Given the description of an element on the screen output the (x, y) to click on. 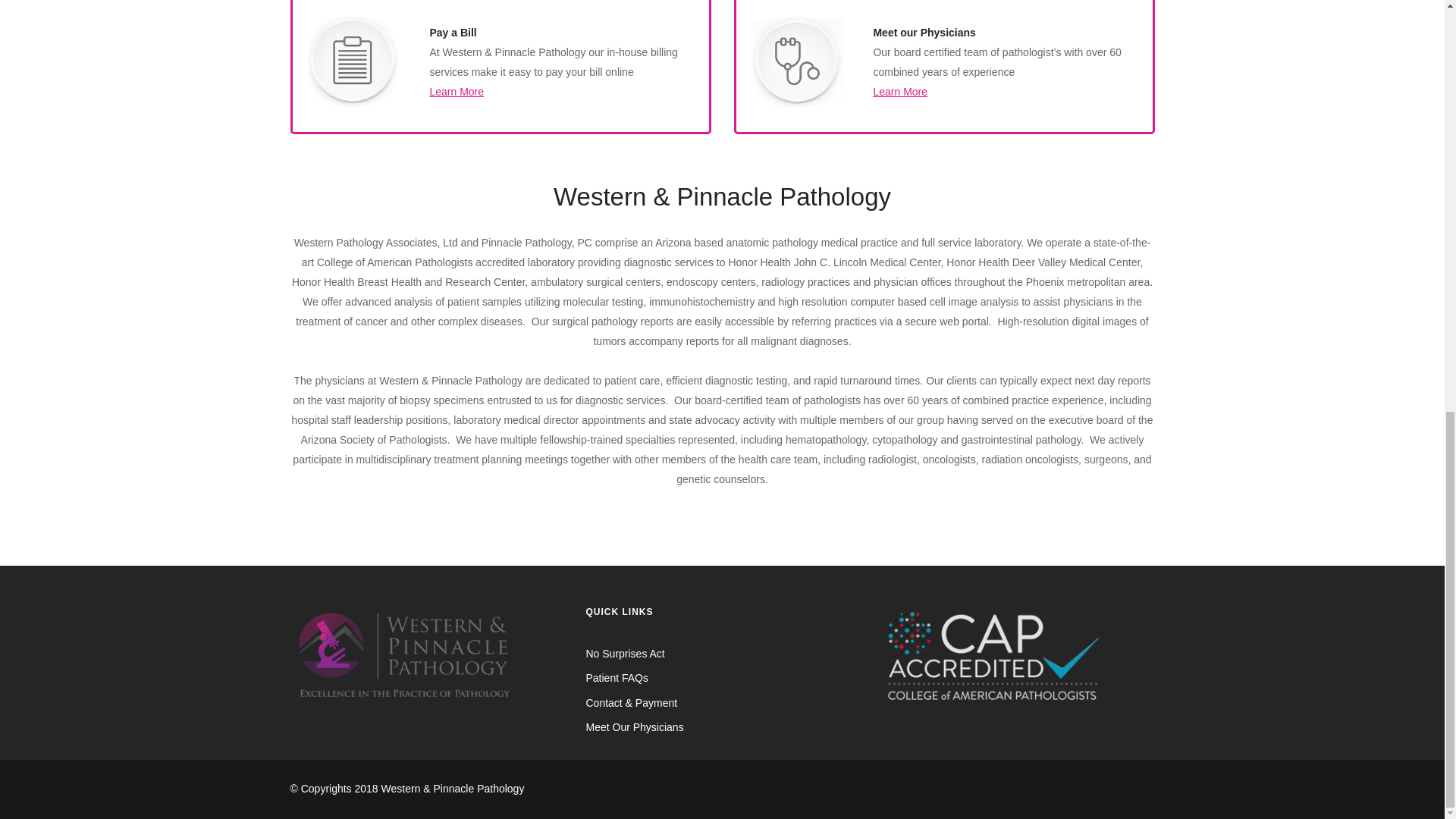
Learn More (899, 91)
Patient FAQs (616, 677)
Meet Our Physicians (633, 727)
No Surprises Act (624, 653)
Learn More (456, 91)
